Given the description of an element on the screen output the (x, y) to click on. 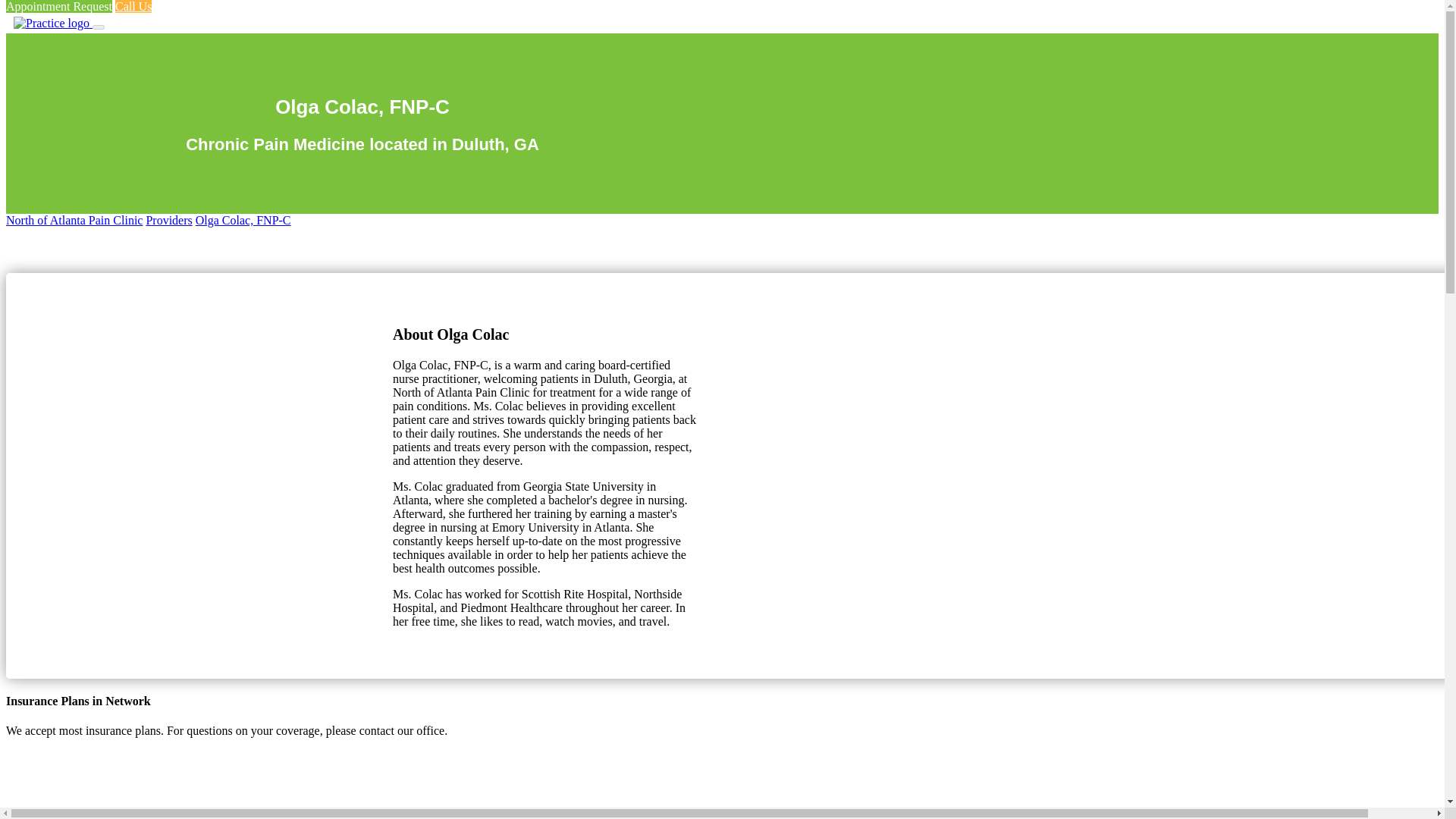
Appointment Request (58, 6)
Call Us (133, 6)
Providers (168, 219)
North of Atlanta Pain Clinic (73, 219)
Aetna (76, 816)
AARP (76, 773)
Olga Colac, FNP-C (243, 219)
